Given the description of an element on the screen output the (x, y) to click on. 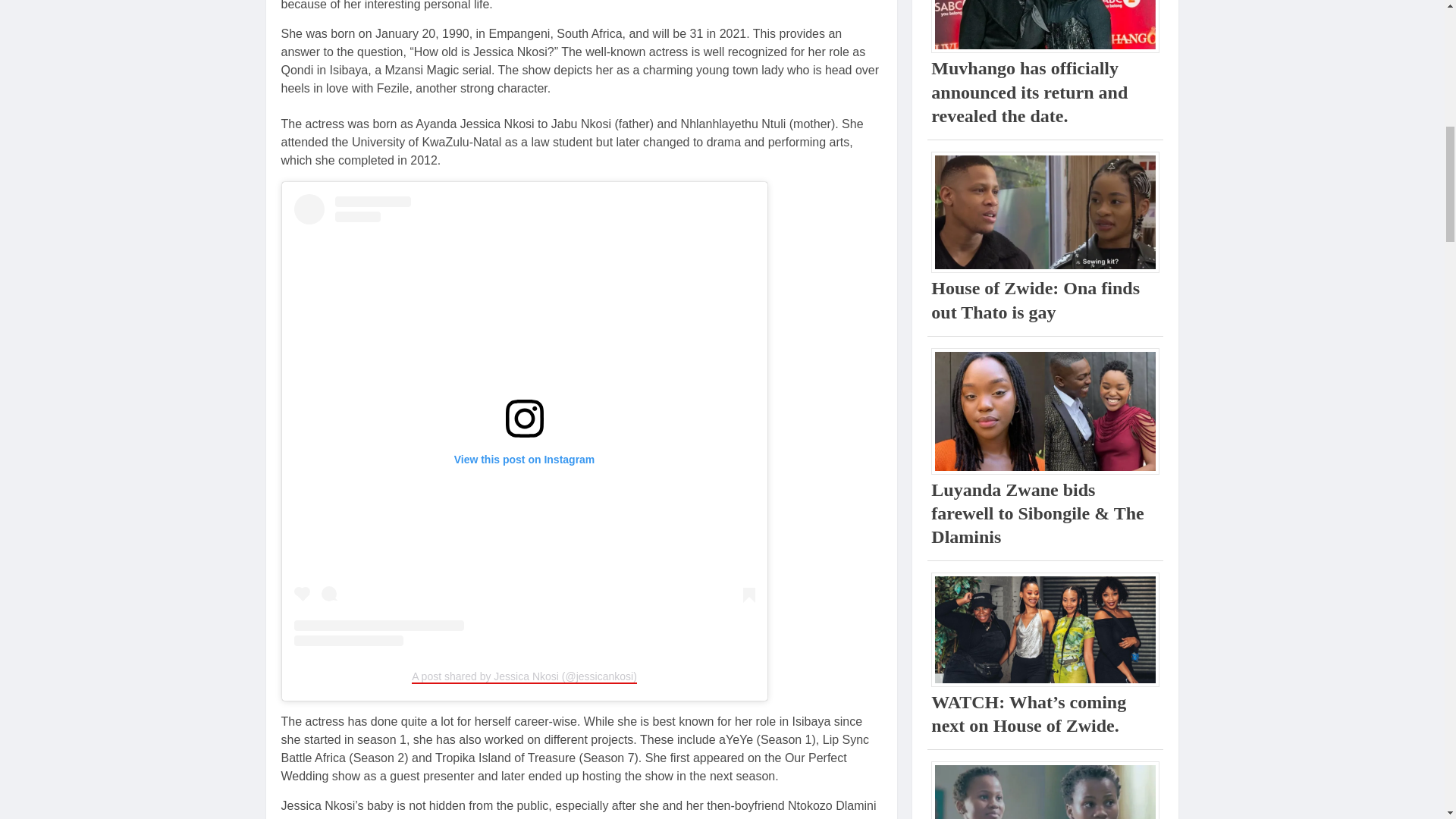
House of Zwide: Ona finds out Thato is gay (1035, 299)
House of Zwide: Ona finds out Thato is gay (1044, 212)
